Given the description of an element on the screen output the (x, y) to click on. 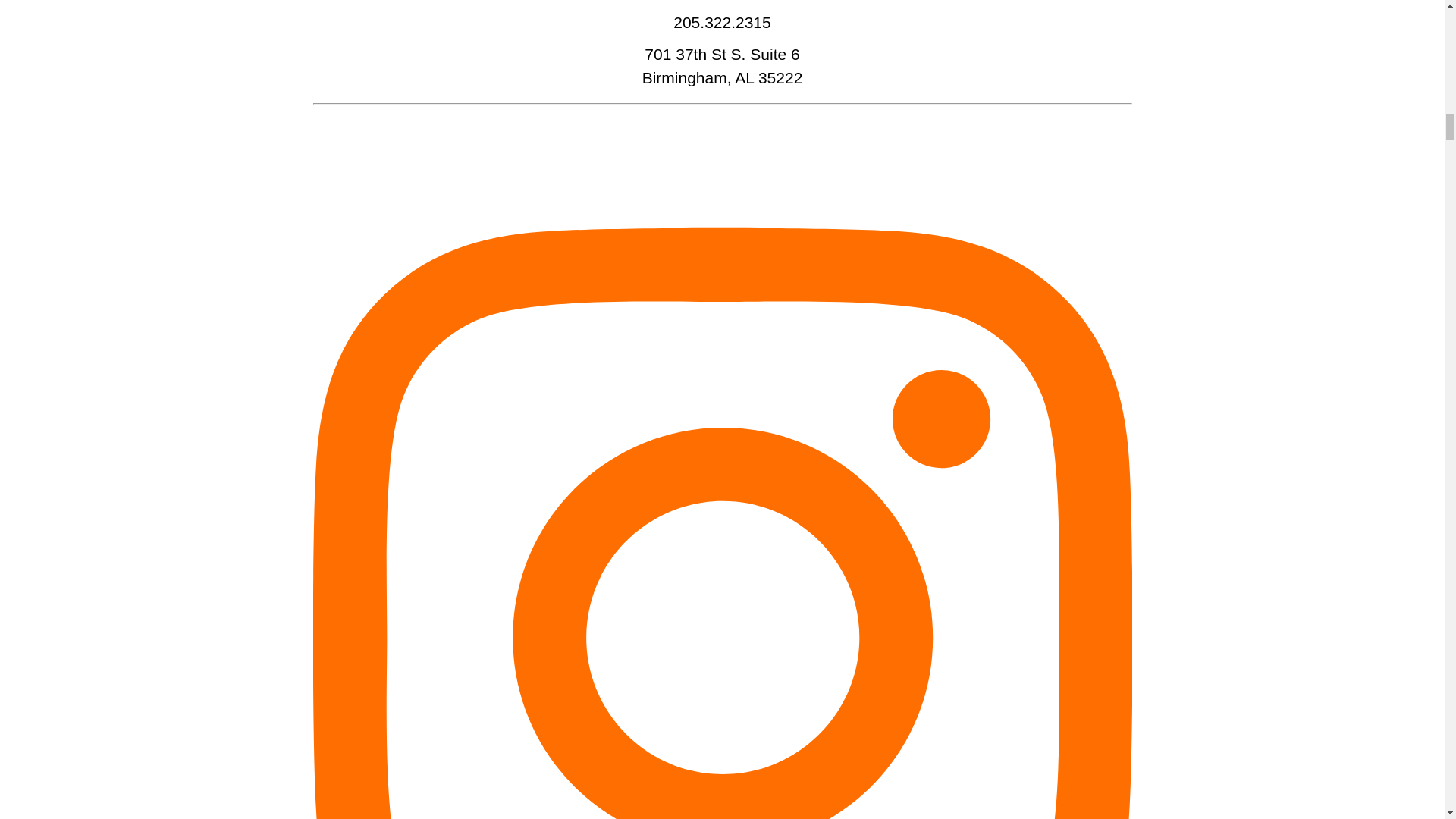
701 37th St S. Suite 6 (722, 54)
205.322.2315 (721, 22)
